Given the description of an element on the screen output the (x, y) to click on. 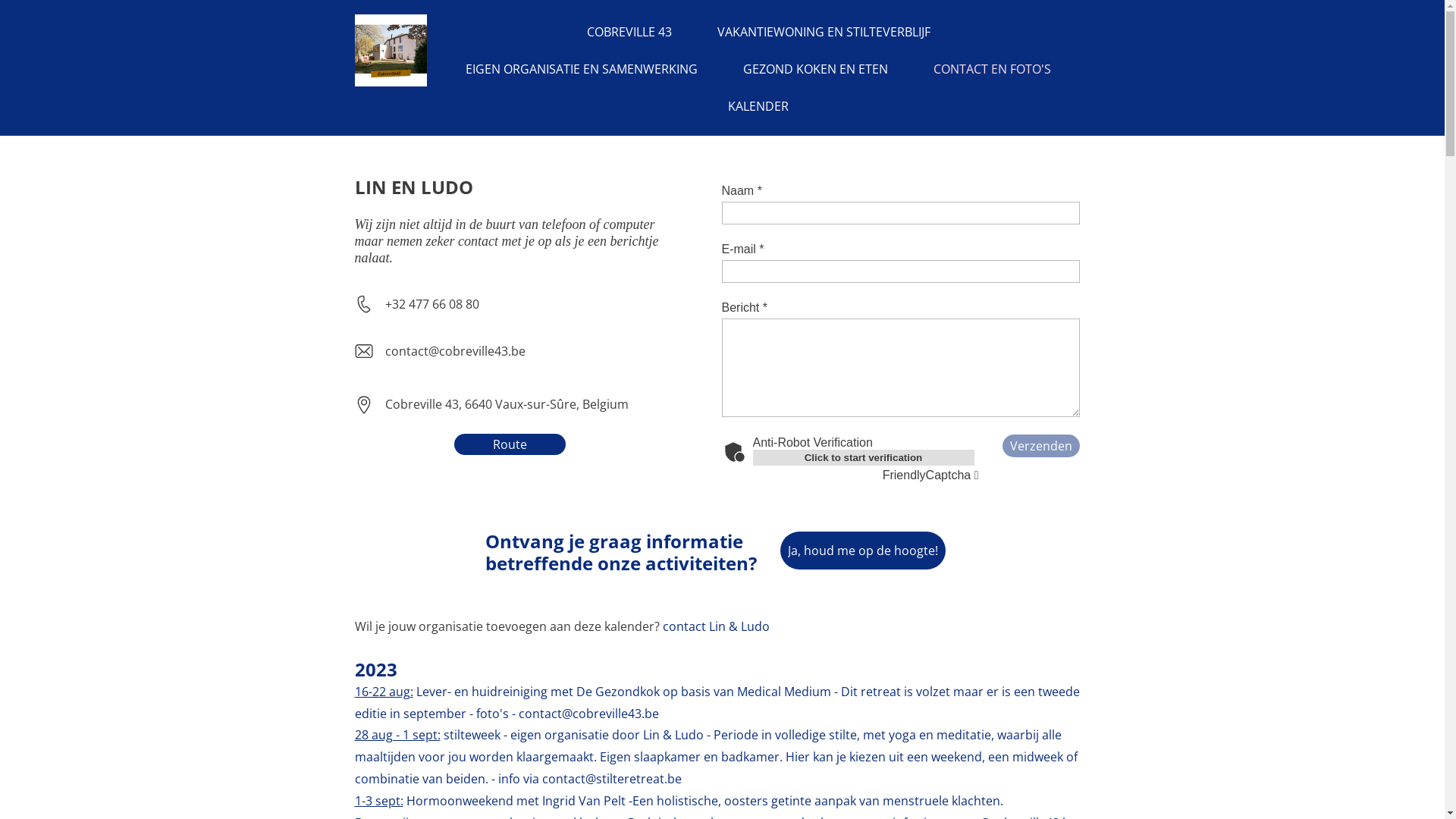
Verzenden Element type: text (1040, 445)
Click to start verification Element type: text (862, 456)
contact@cobreville43.be Element type: text (588, 713)
Route Element type: text (508, 444)
Ja, houd me op de hoogte! Element type: text (861, 550)
VAKANTIEWONING EN STILTEVERBLIJF Element type: text (823, 31)
GEZOND KOKEN EN ETEN Element type: text (815, 68)
contact Lin & Ludo Element type: text (715, 626)
contact@cobreville43.be Element type: text (455, 350)
Lever- en huidreiniging Element type: text (482, 691)
stilteweek Element type: text (470, 734)
KALENDER Element type: text (758, 106)
+32 477 66 08 80 Element type: text (432, 303)
CONTACT EN FOTO'S Element type: text (991, 68)
foto's Element type: text (493, 713)
EIGEN ORGANISATIE EN SAMENWERKING Element type: text (581, 68)
contact@stilteretreat.be Element type: text (610, 778)
COBREVILLE 43 Element type: text (629, 31)
Hormoonweekend Element type: text (461, 800)
